Given the description of an element on the screen output the (x, y) to click on. 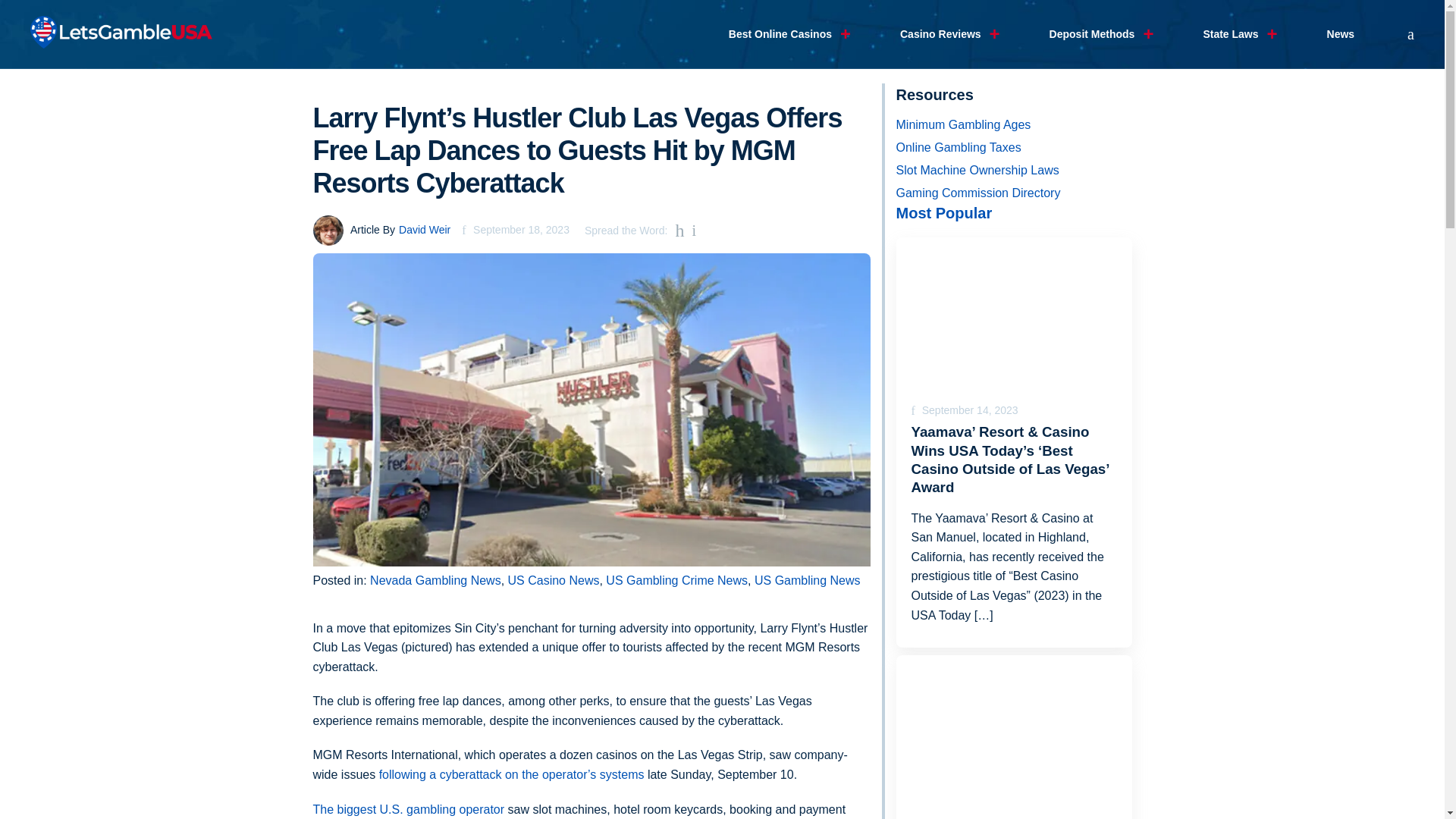
The biggest U.S. gambling operator (409, 809)
Deposit Methods (1091, 34)
Best Online Casinos (780, 34)
Article ByDavid Weir (381, 228)
US Gambling Crime News (676, 580)
Nevada Gambling News (434, 580)
US Gambling News (807, 580)
State Laws (1230, 34)
Casino Reviews (940, 34)
News (1340, 34)
